Given the description of an element on the screen output the (x, y) to click on. 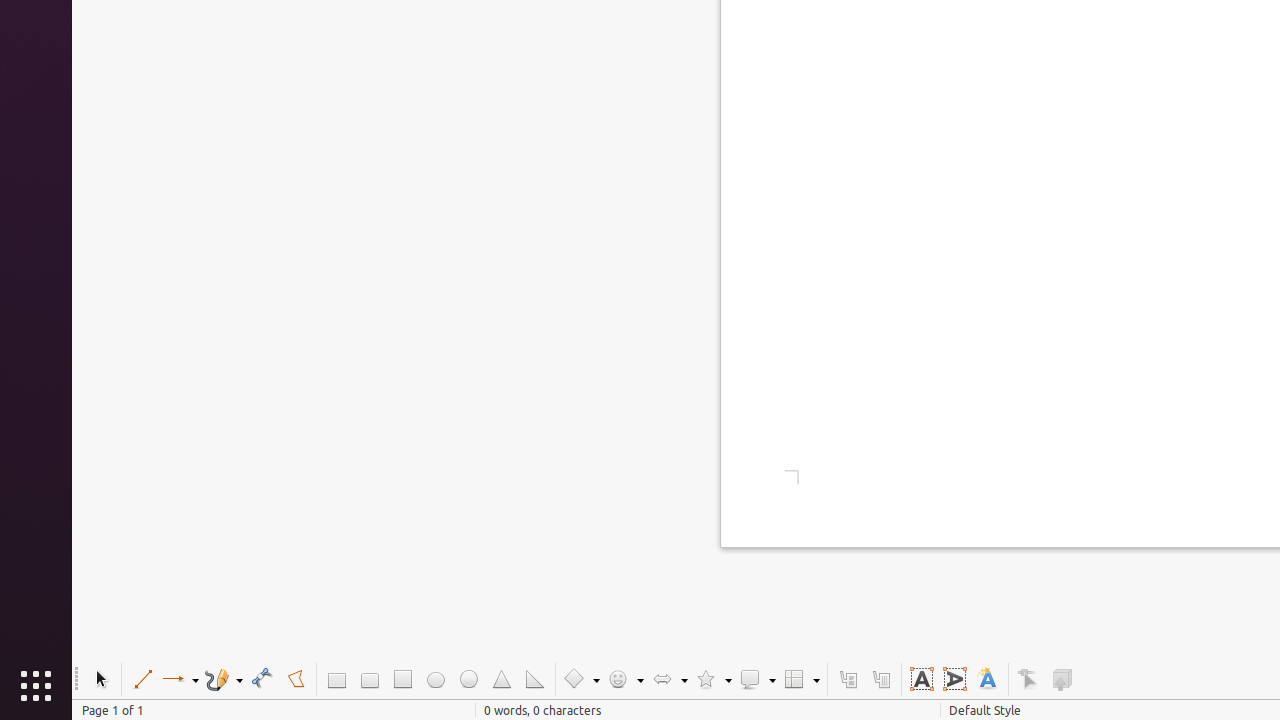
Line Element type: push-button (141, 679)
Right Triangle Element type: push-button (534, 679)
Curves and Polygons Element type: push-button (224, 679)
Isosceles Triangle Element type: push-button (501, 679)
Toggle Extrusion Element type: push-button (1061, 679)
